Given the description of an element on the screen output the (x, y) to click on. 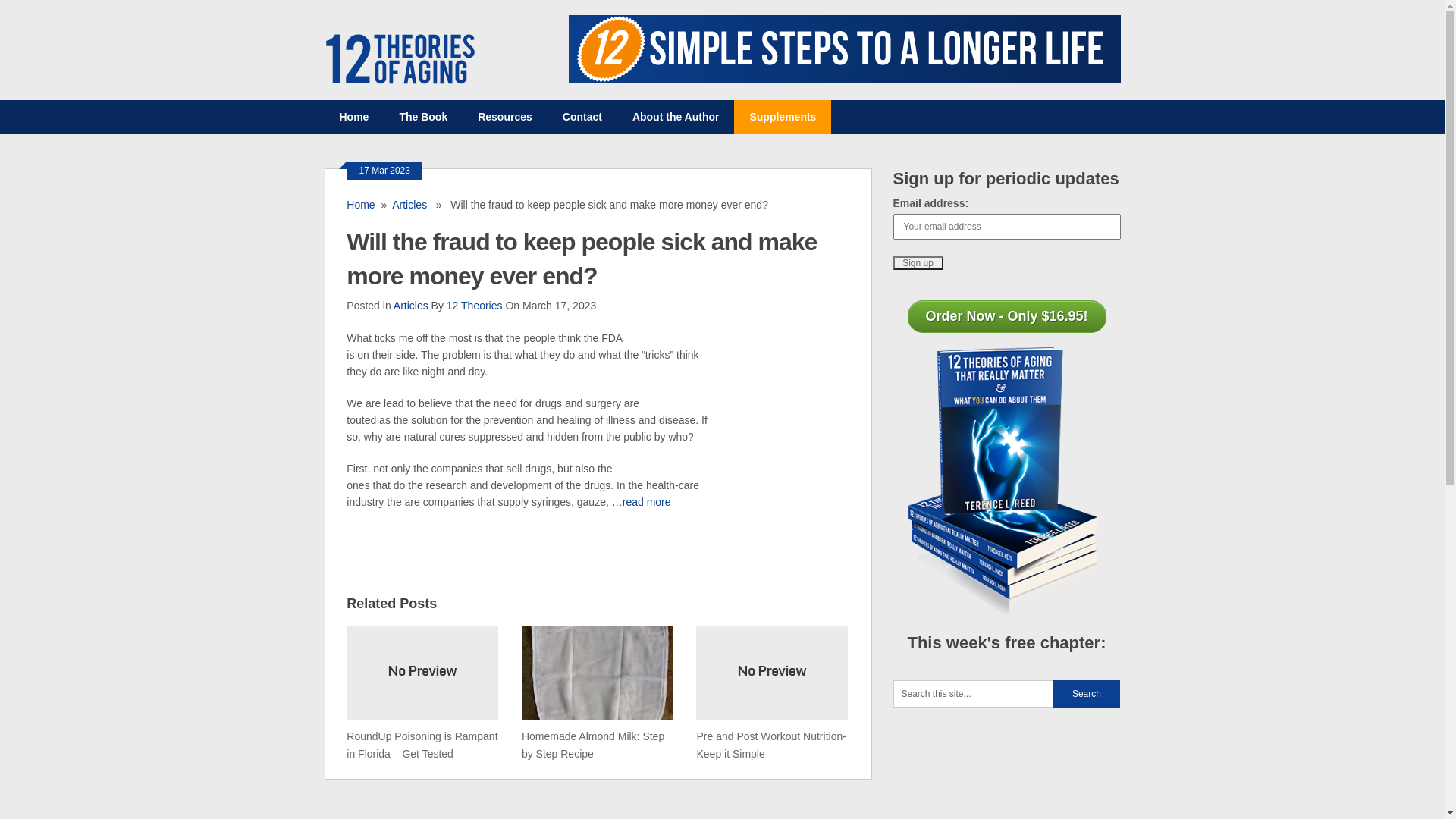
Contact Element type: text (582, 117)
Home Element type: text (360, 204)
Home Element type: text (354, 117)
The Book Element type: text (422, 117)
Articles Element type: text (410, 305)
About the Author Element type: text (675, 117)
Articles Element type: text (409, 204)
Search Element type: text (1086, 694)
This week's free chapter: Element type: text (1006, 649)
Order Now - Only $16.95! Element type: text (1005, 316)
Advertisement Element type: hover (597, 564)
12 Theories Element type: text (474, 305)
Sign up Element type: text (918, 262)
Resources Element type: text (504, 117)
Supplements Element type: text (782, 117)
